Given the description of an element on the screen output the (x, y) to click on. 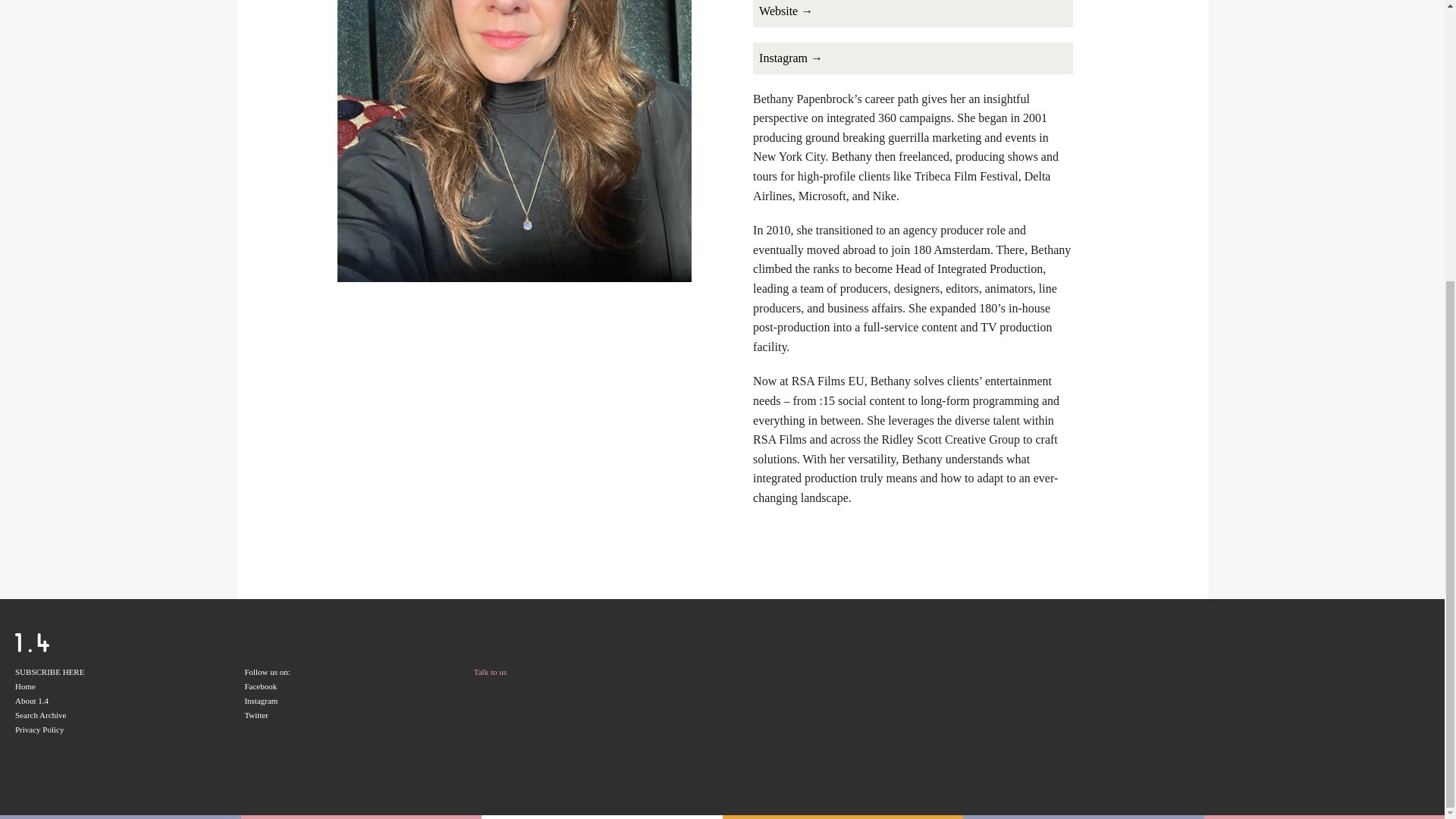
Website (912, 13)
